Given the description of an element on the screen output the (x, y) to click on. 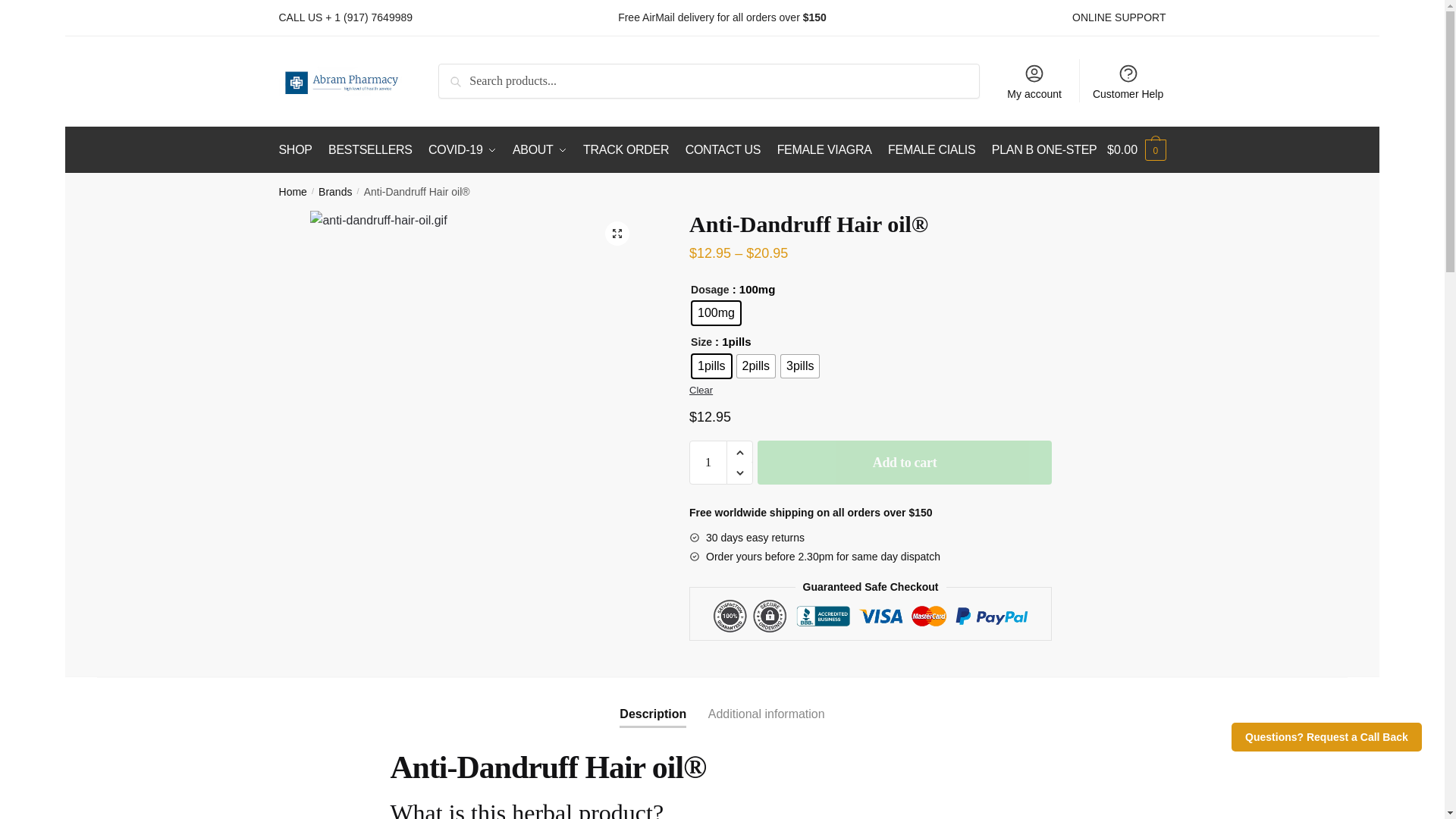
FEMALE VIAGRA (824, 149)
TRACK ORDER (625, 149)
COVID-19 (462, 149)
2pills (755, 365)
My account (1033, 80)
FEMALE CIALIS (931, 149)
3pills (799, 365)
Customer Help (1128, 80)
100mg (716, 313)
1pills (711, 365)
anti-dandruff-hair-oil.gif (475, 344)
ABOUT (539, 149)
PLAN B ONE-STEP (1044, 149)
CONTACT US (723, 149)
View your shopping cart (1136, 149)
